Given the description of an element on the screen output the (x, y) to click on. 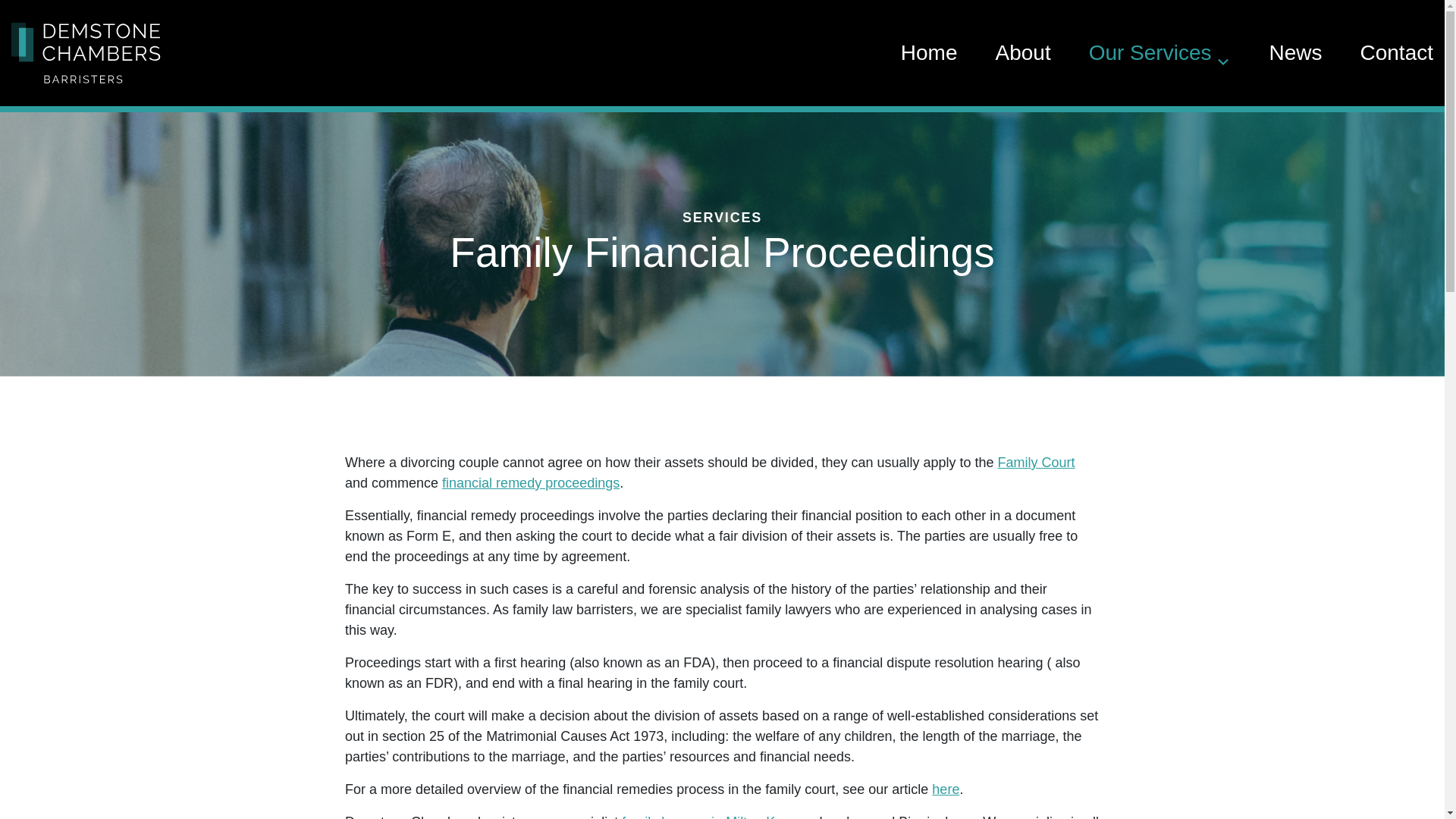
family lawyers in Milton Keynes (715, 816)
Contact (1396, 53)
About (1021, 53)
News (1295, 53)
here (945, 789)
Our Services (1160, 53)
Family Court (1036, 462)
financial remedy proceedings (531, 482)
Home (929, 53)
